Given the description of an element on the screen output the (x, y) to click on. 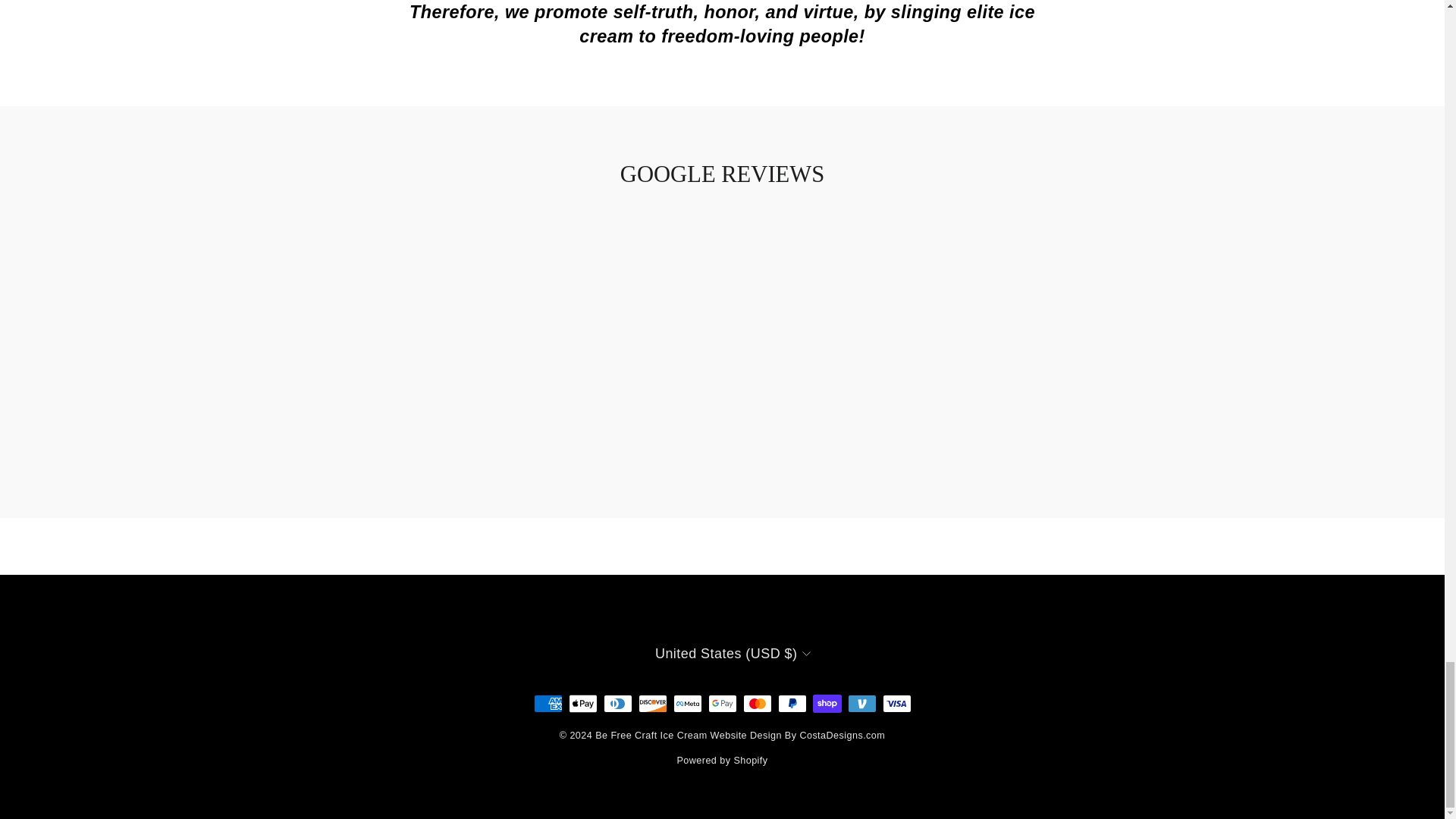
Shop Pay (826, 703)
Apple Pay (582, 703)
Discover (652, 703)
Mastercard (756, 703)
Visa (896, 703)
Diners Club (617, 703)
PayPal (791, 703)
Meta Pay (686, 703)
Venmo (861, 703)
American Express (548, 703)
Google Pay (721, 703)
